Given the description of an element on the screen output the (x, y) to click on. 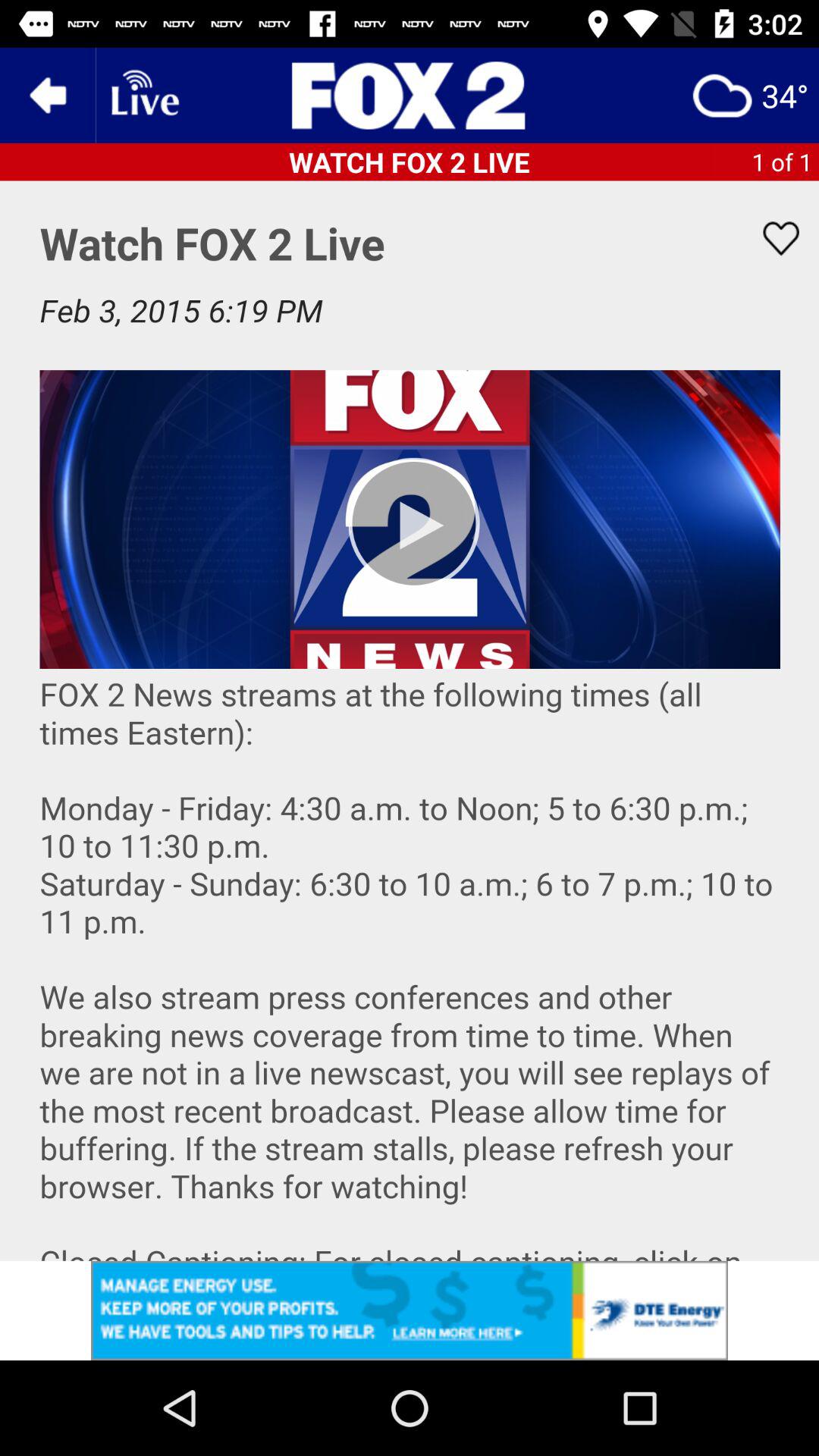
advertisement (409, 1310)
